Given the description of an element on the screen output the (x, y) to click on. 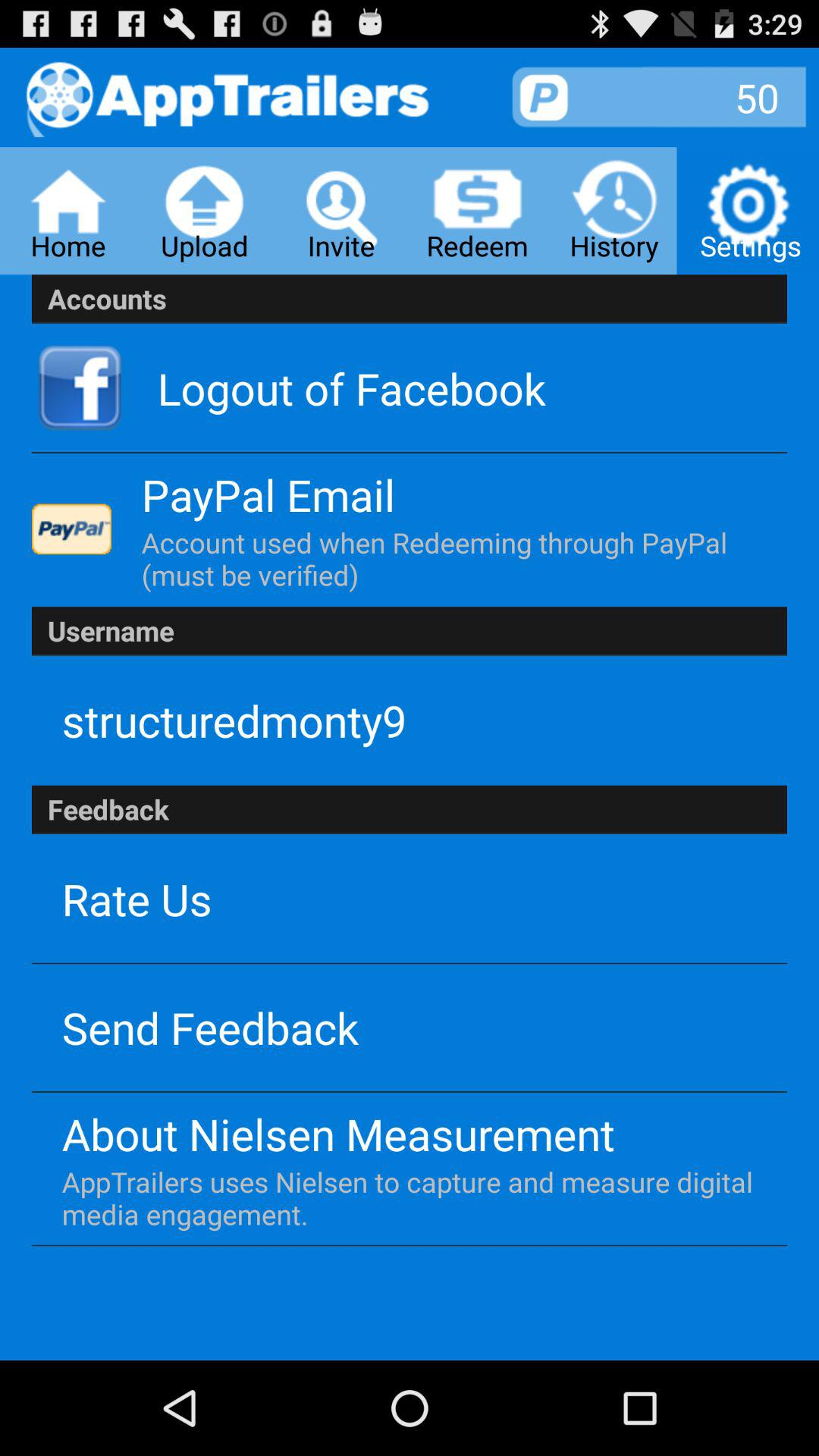
launch rate us icon (136, 898)
